Given the description of an element on the screen output the (x, y) to click on. 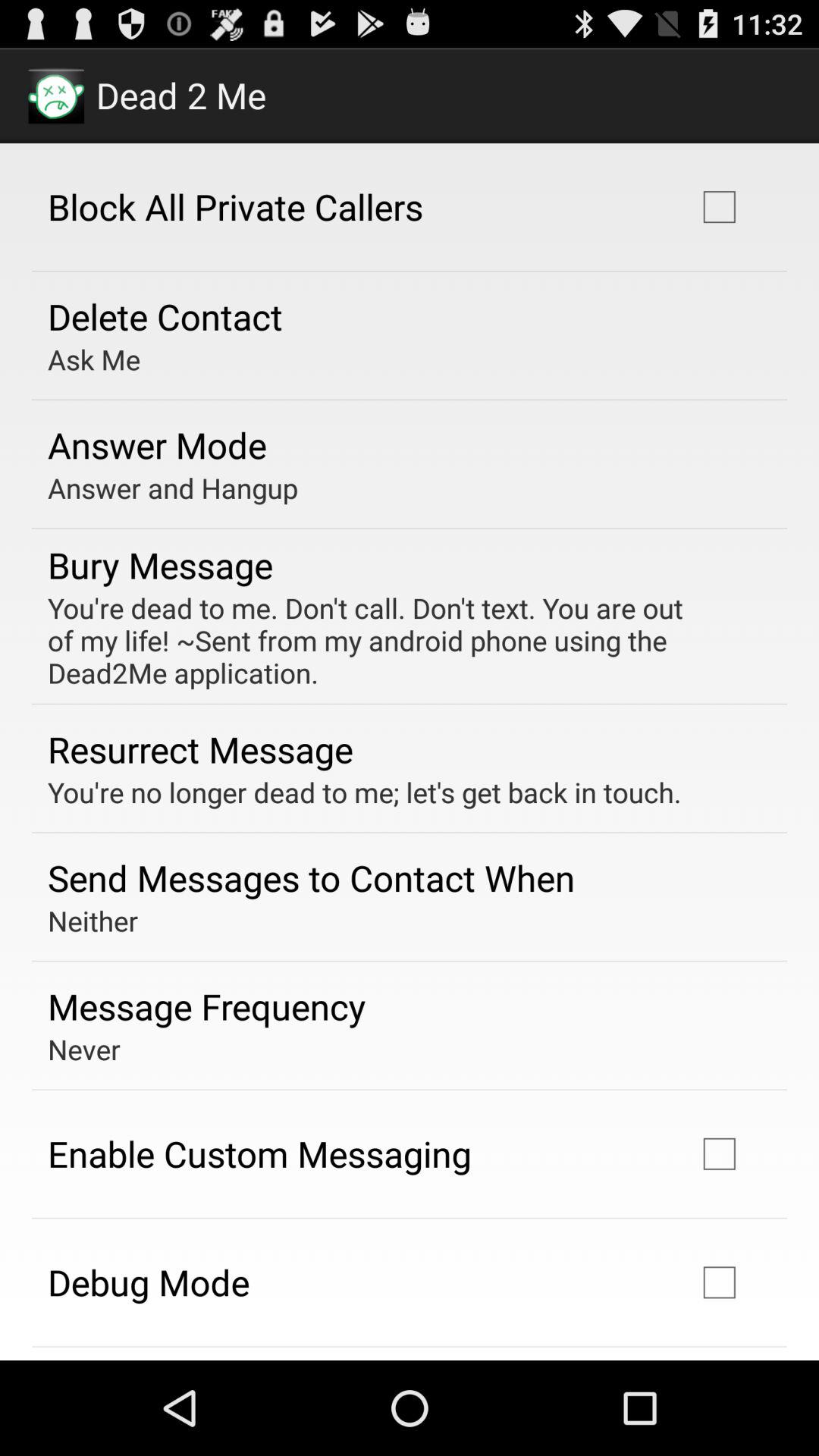
choose app above the neither icon (311, 877)
